Given the description of an element on the screen output the (x, y) to click on. 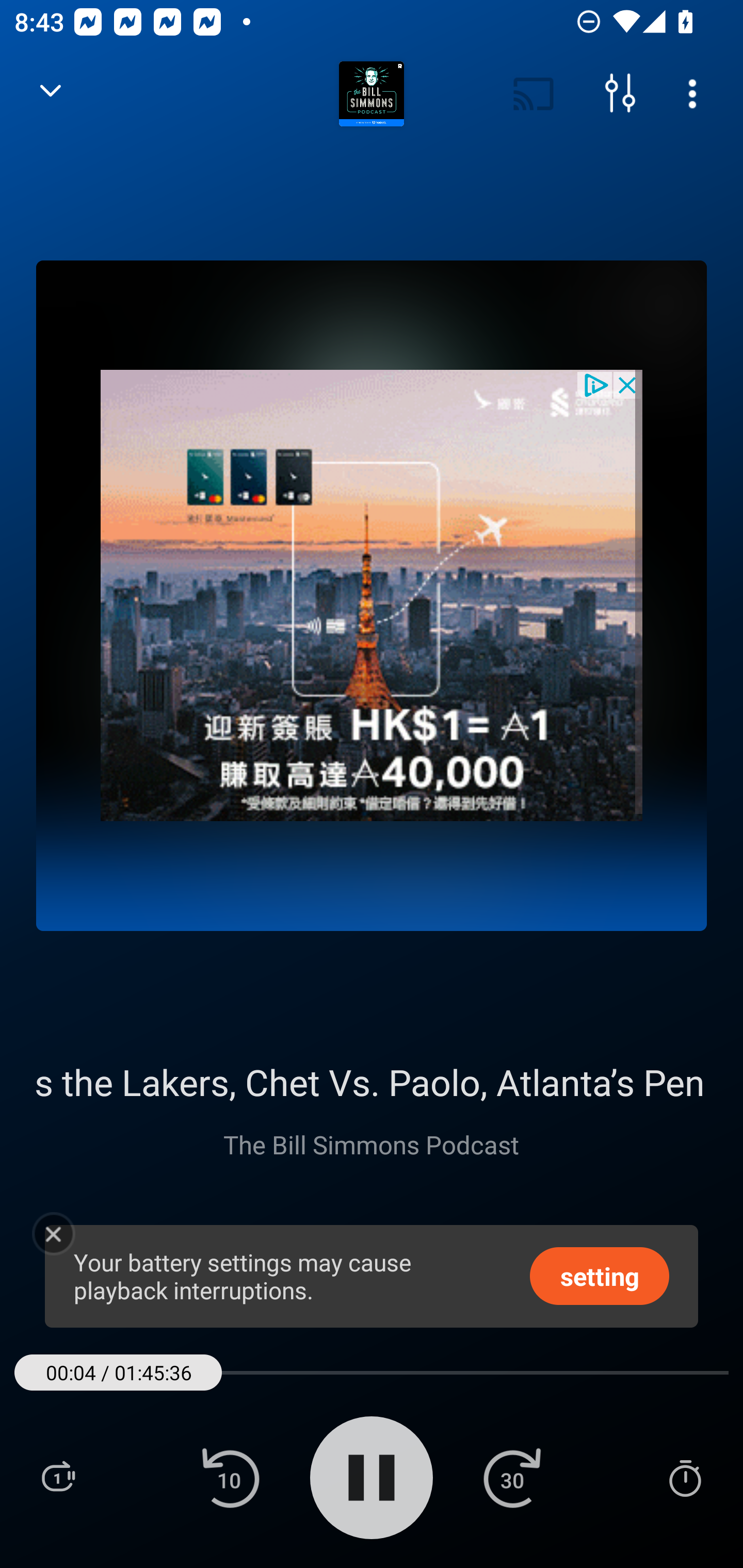
Cast. Disconnected (533, 93)
 Back (50, 94)
The Bill Simmons Podcast (371, 1144)
setting (599, 1275)
 Playlist (57, 1477)
Sleep Timer  (684, 1477)
